Given the description of an element on the screen output the (x, y) to click on. 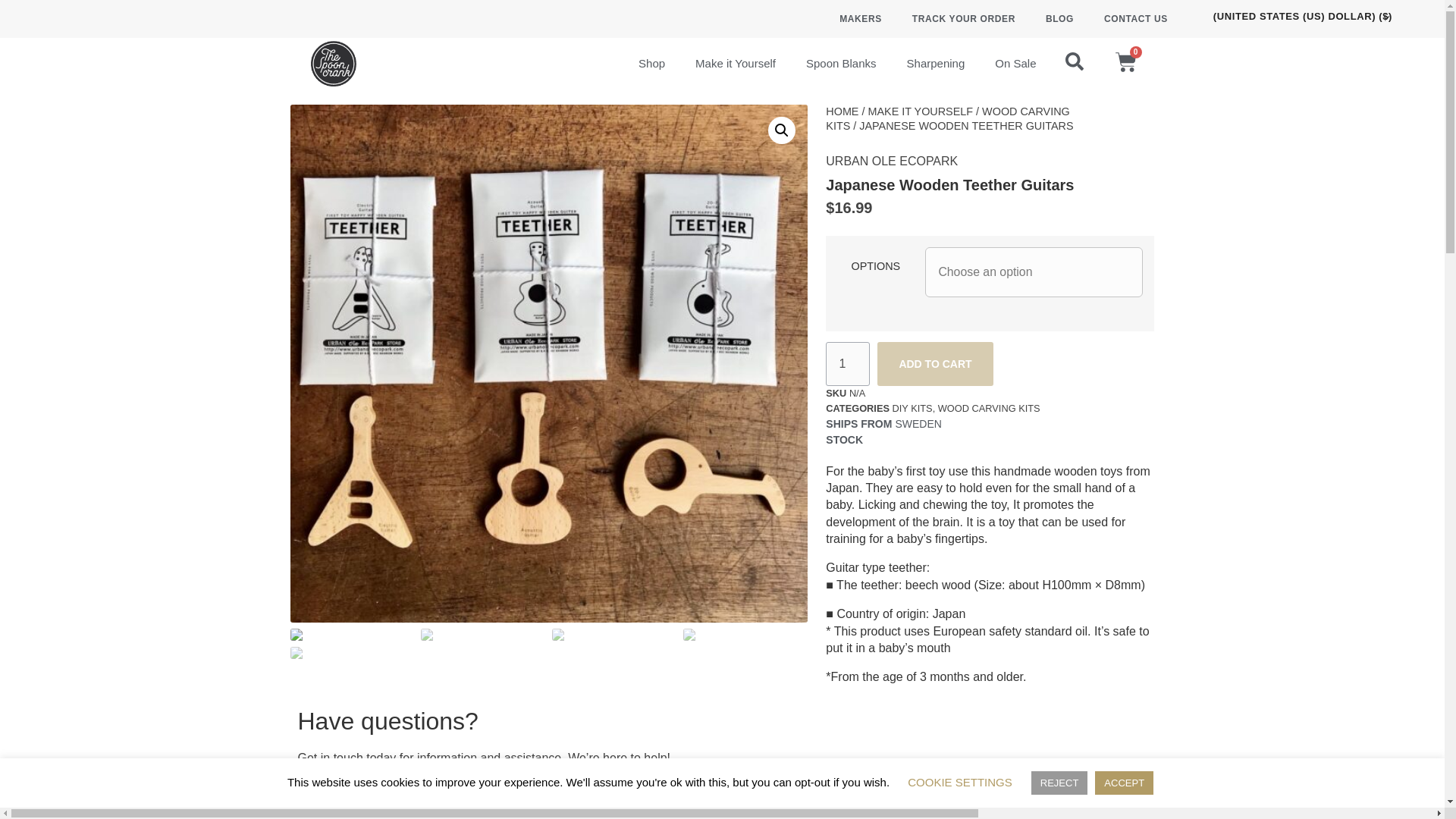
MAKERS (860, 18)
CONTACT US (1135, 18)
BLOG (1059, 18)
1 (847, 363)
TRACK YOUR ORDER (963, 18)
Shop (651, 63)
